Given the description of an element on the screen output the (x, y) to click on. 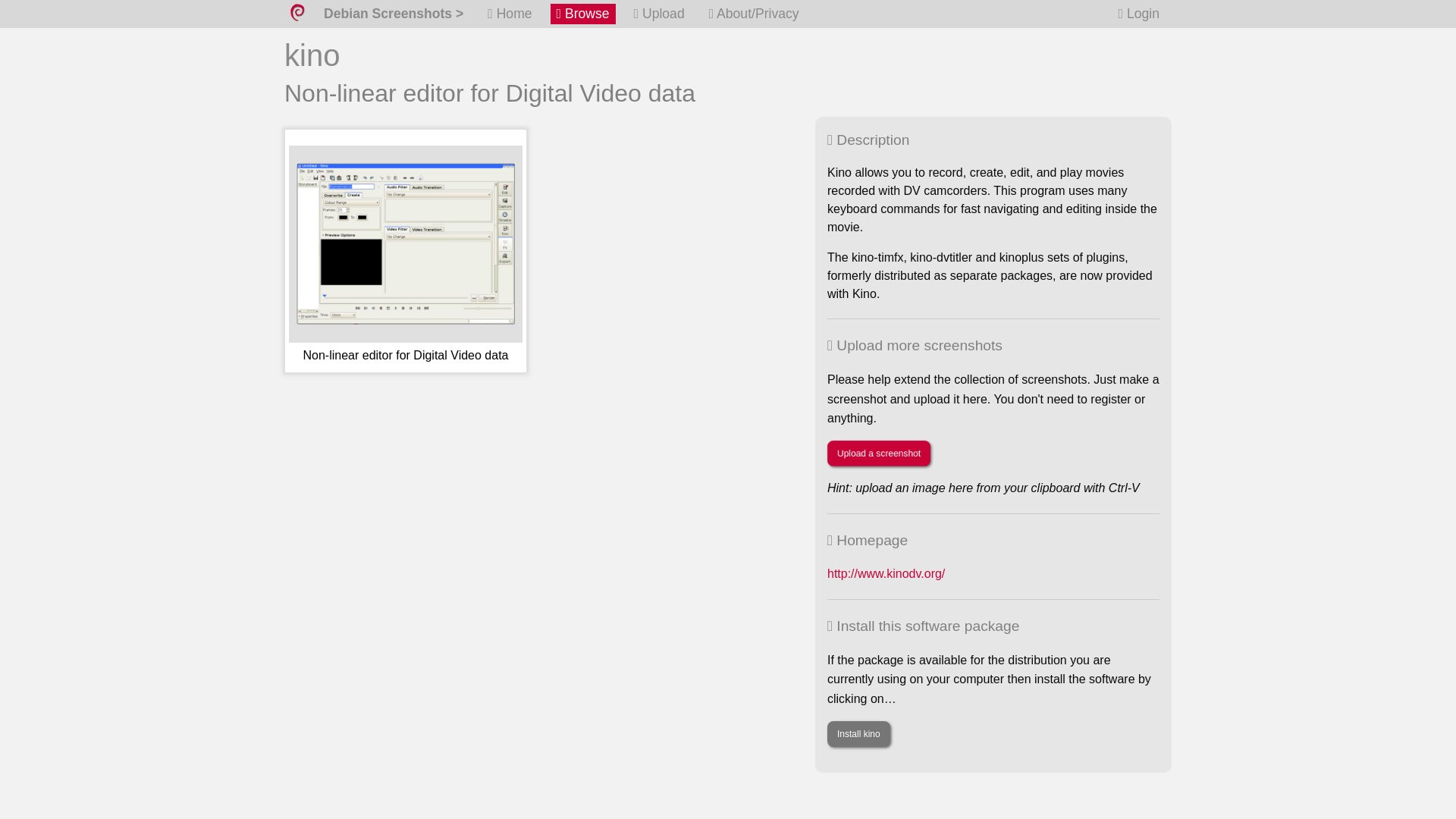
Browse (582, 14)
Upload (658, 14)
Home (509, 14)
Install kino (858, 733)
Login (1139, 14)
Non-linear editor for Digital Video data (405, 256)
Upload a screenshot (878, 453)
Non-linear editor for Digital Video data (405, 256)
